Given the description of an element on the screen output the (x, y) to click on. 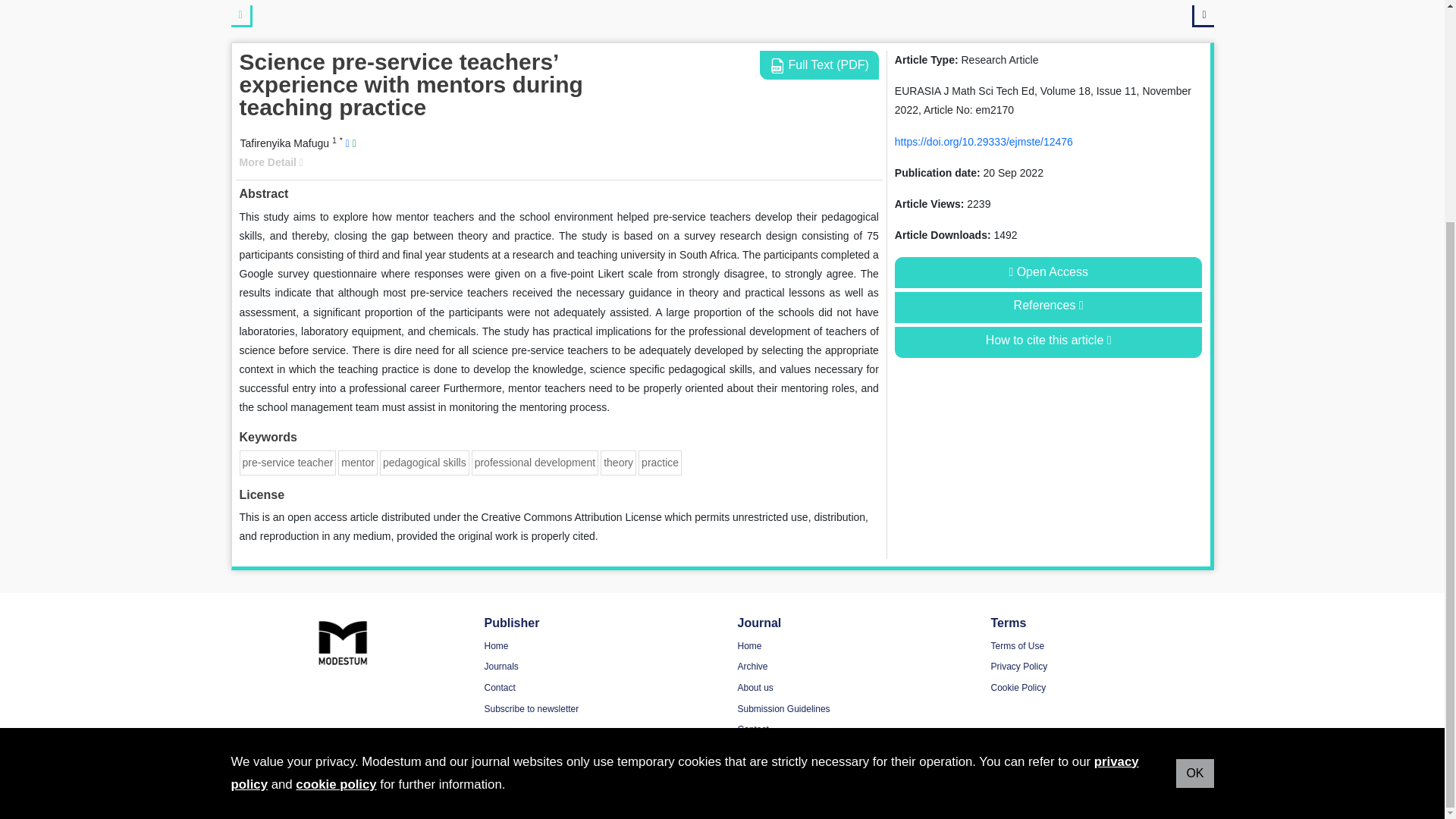
professional development (534, 462)
mentor (357, 462)
Back to article list (240, 15)
pre-service teacher (288, 462)
Next article (1202, 15)
pedagogical skills (423, 462)
